Given the description of an element on the screen output the (x, y) to click on. 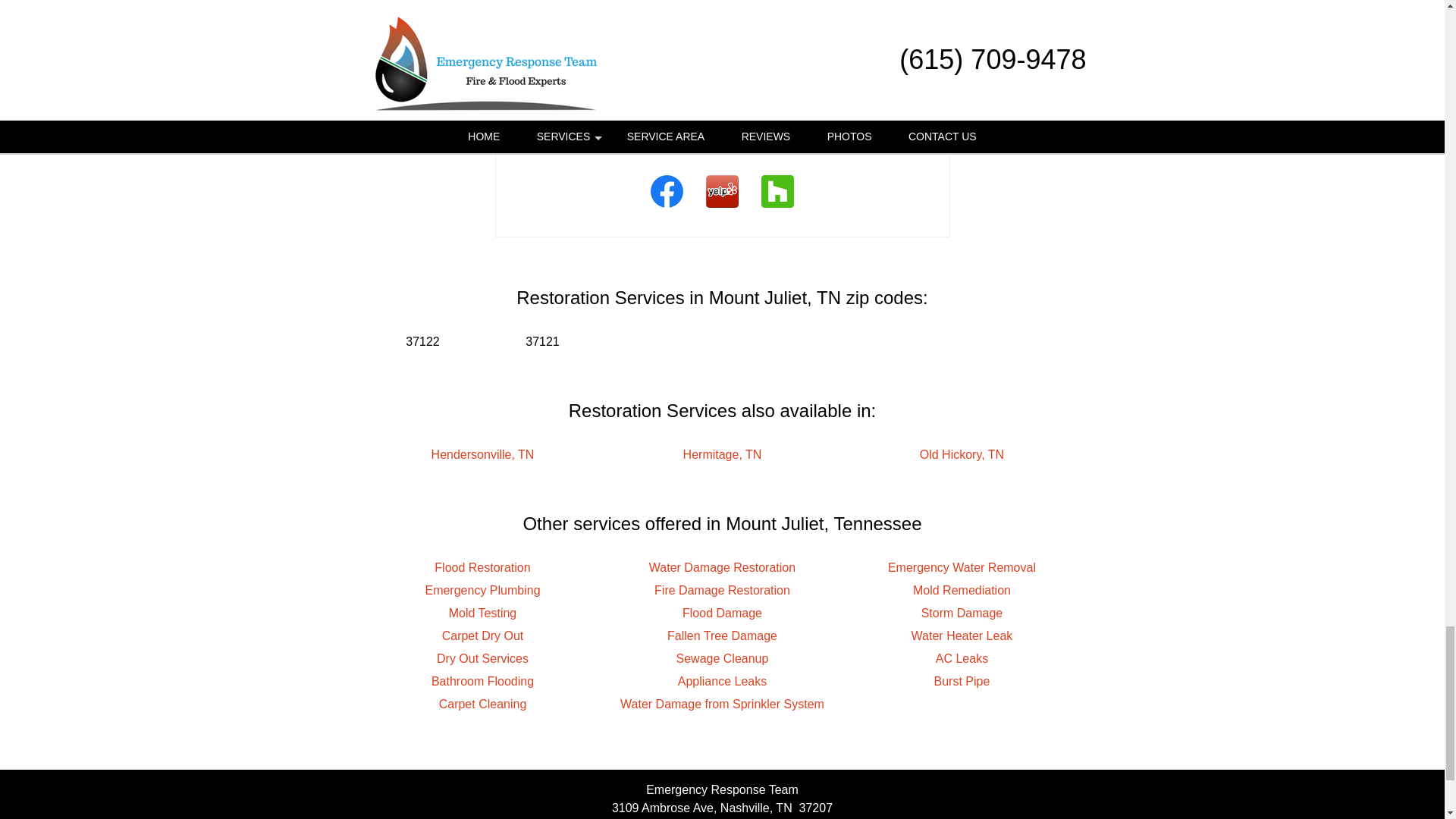
Houzz (777, 209)
Facebook (666, 209)
Yelp (721, 209)
